Given the description of an element on the screen output the (x, y) to click on. 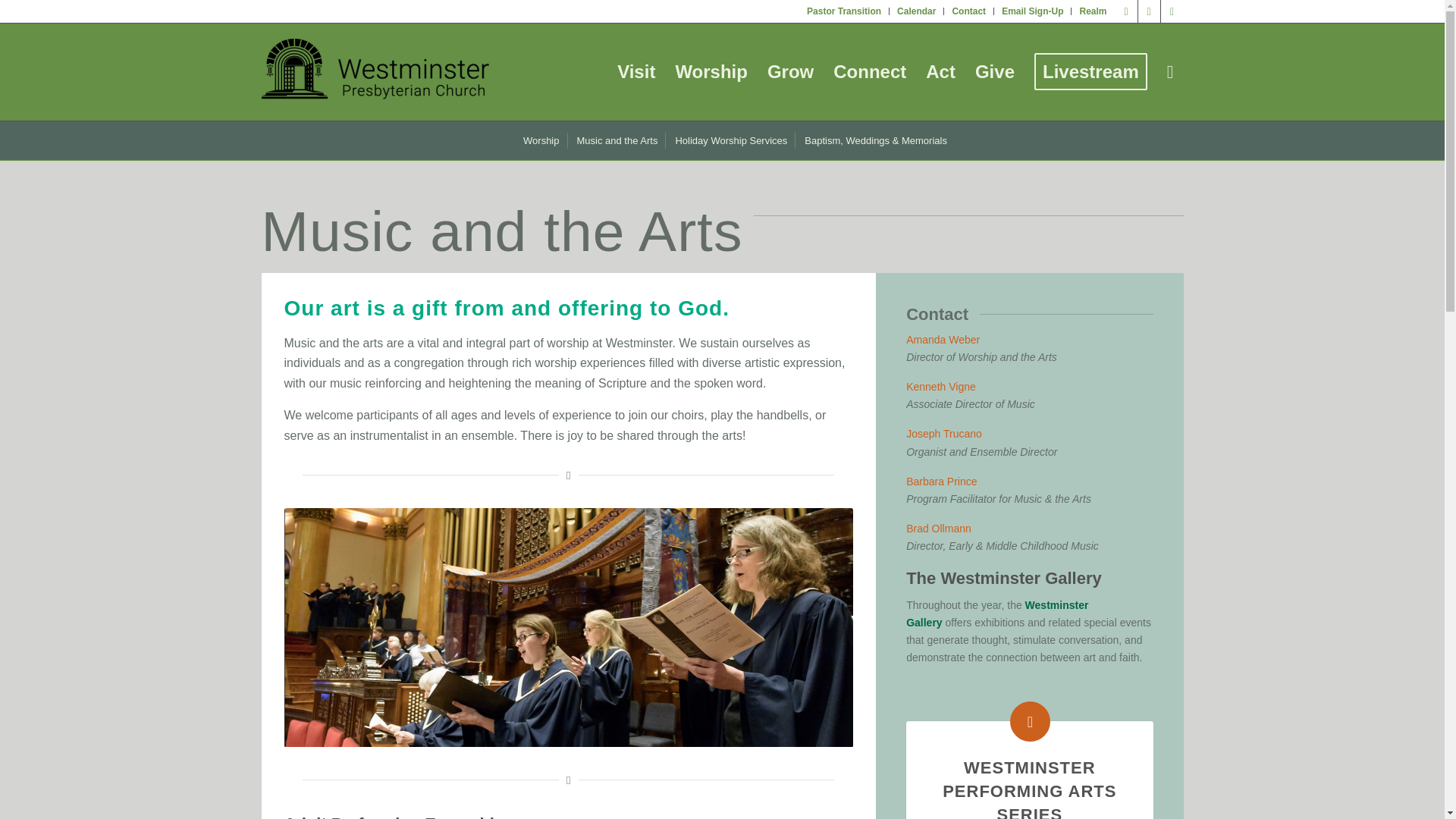
Pastor Transition (843, 11)
Worship (711, 71)
Calendar (916, 11)
Realm (1092, 11)
Contact (968, 11)
Email Sign-Up (1031, 11)
